Given the description of an element on the screen output the (x, y) to click on. 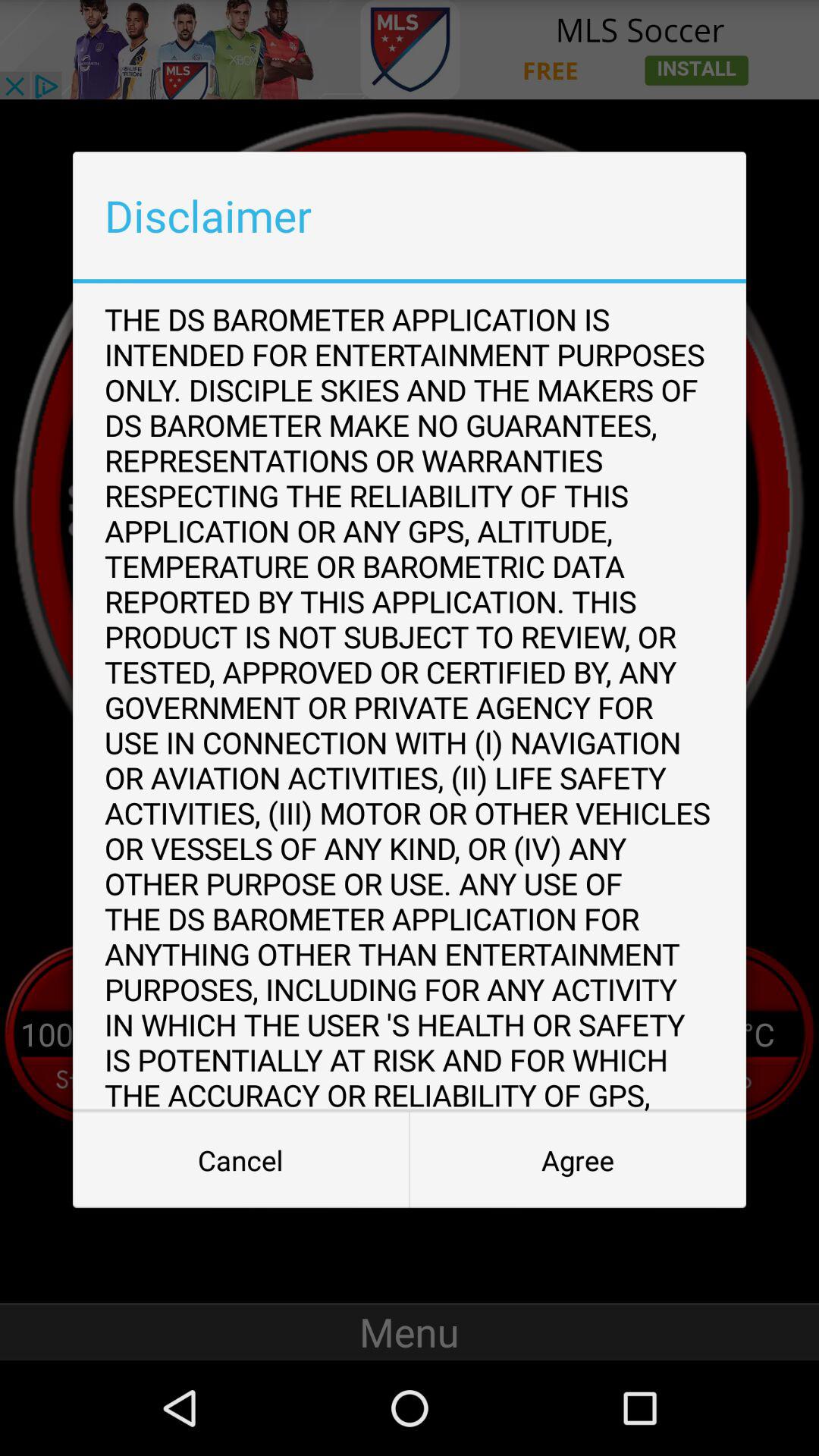
select cancel item (240, 1160)
